Given the description of an element on the screen output the (x, y) to click on. 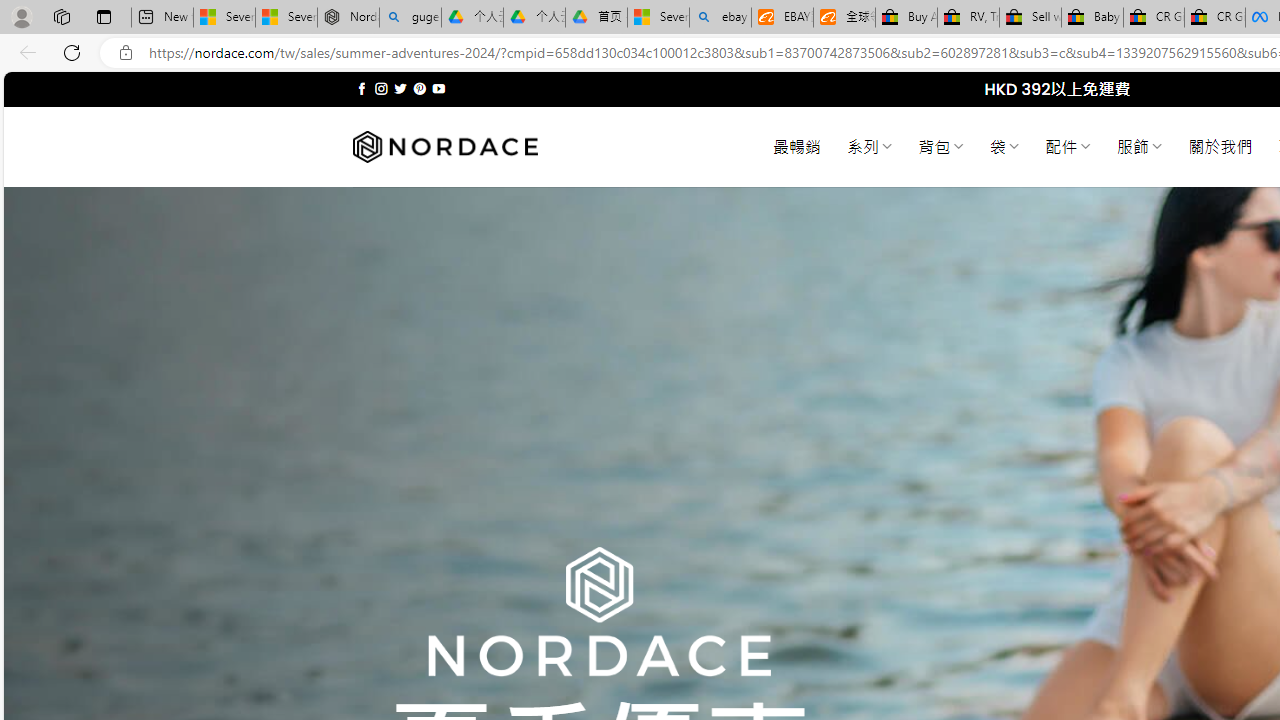
Follow on Pinterest (419, 88)
Follow on Instagram (381, 88)
guge yunpan - Search (410, 17)
